Given the description of an element on the screen output the (x, y) to click on. 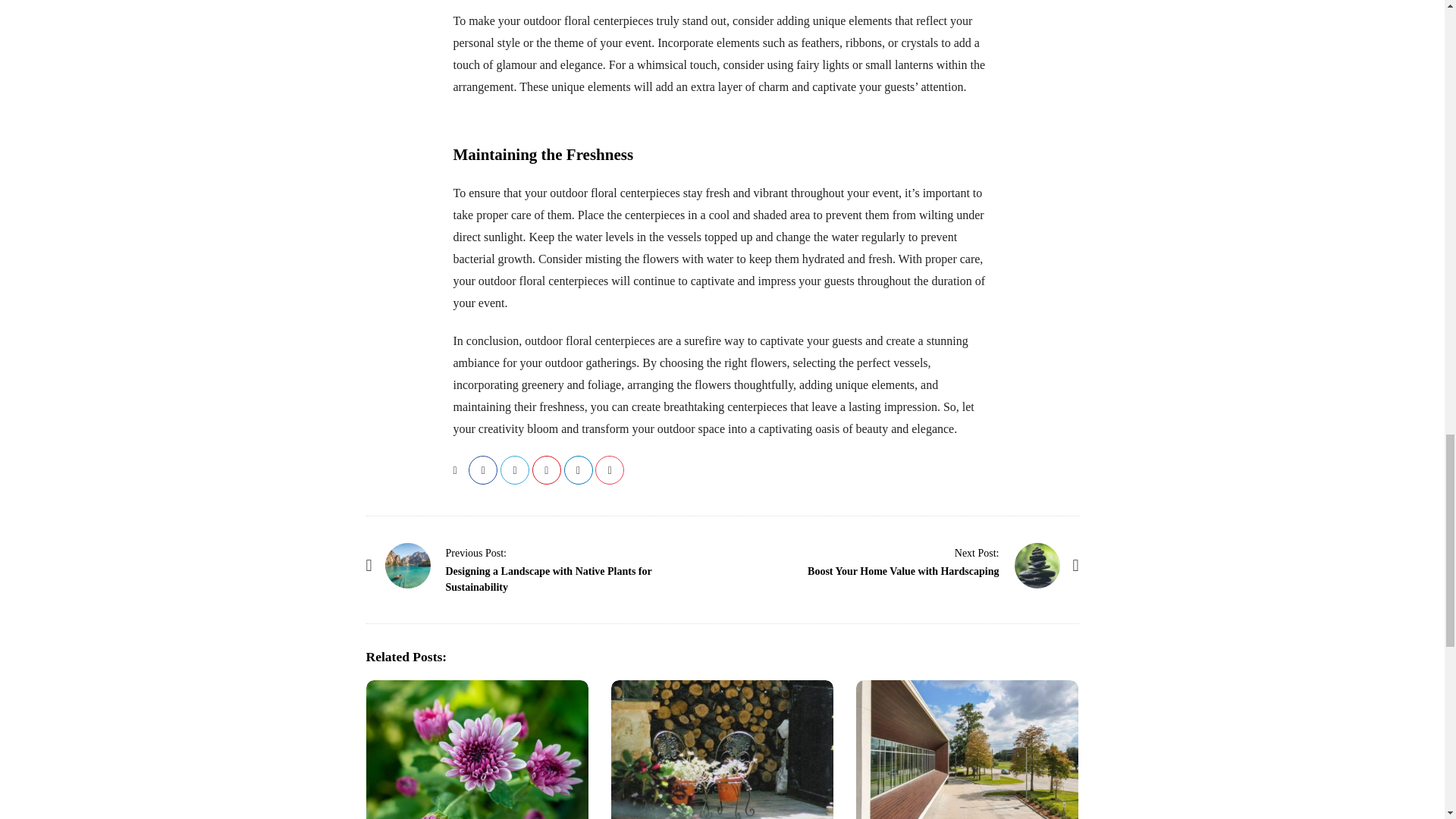
Previous Post: (475, 552)
Designing a Landscape with Native Plants for Sustainability (475, 552)
Next Post: (976, 552)
Designing a Landscape with Native Plants for Sustainability (548, 578)
Boost Your Home Value with Hardscaping (1036, 565)
Boost Your Home Value with Hardscaping (976, 552)
Designing an Inviting Entrance with Great Curb Appeal (967, 749)
Designing a Landscape with Native Plants for Sustainability (407, 565)
Boost Your Home Value with Hardscaping (903, 571)
